Given the description of an element on the screen output the (x, y) to click on. 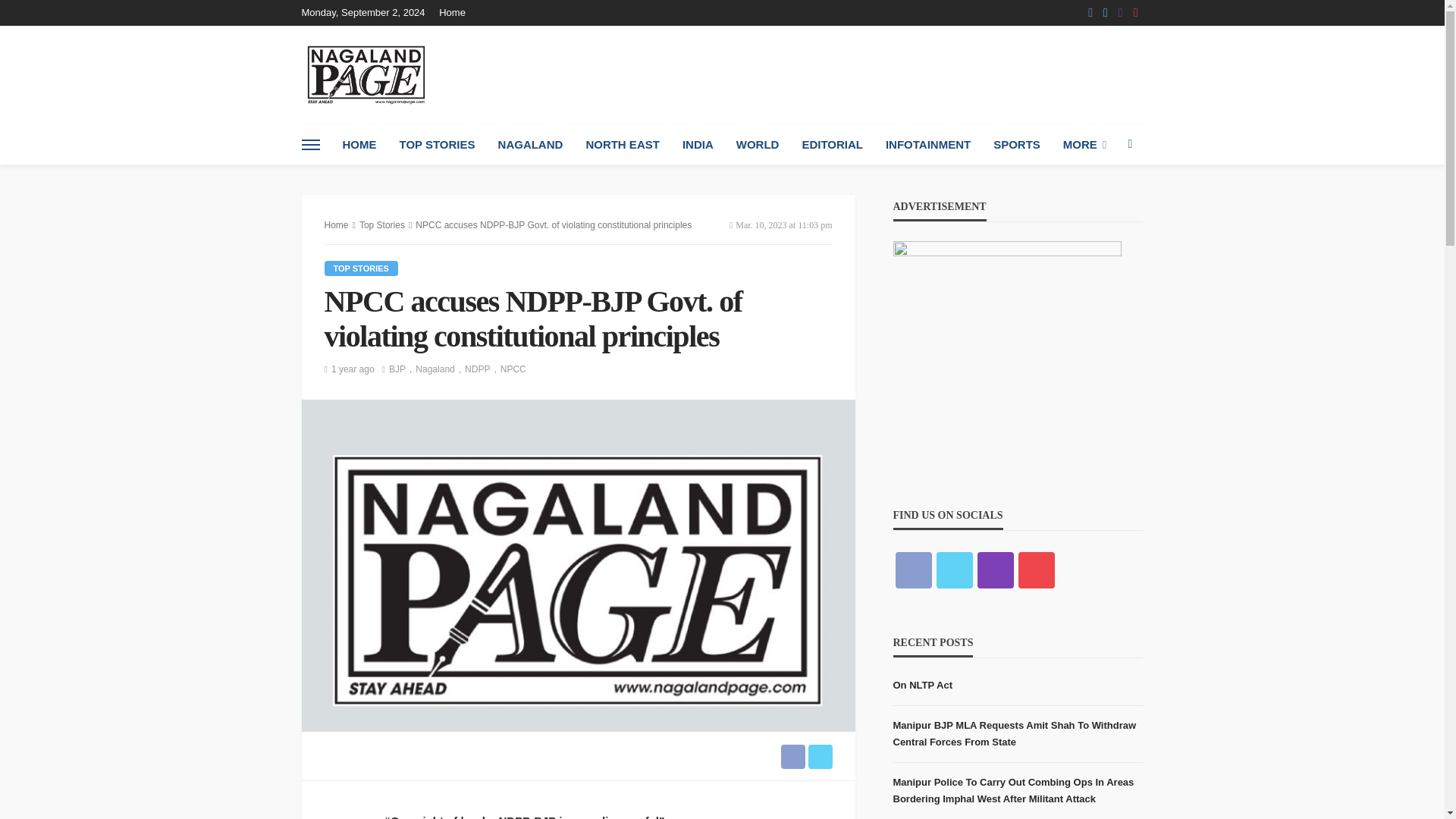
NORTH EAST (622, 144)
Home (456, 12)
nagaland-page-logo (365, 74)
INFOTAINMENT (928, 144)
EDITORIAL (832, 144)
TOP STORIES (437, 144)
Top Stories (360, 268)
INDIA (698, 144)
MORE (1084, 144)
NAGALAND (530, 144)
